Given the description of an element on the screen output the (x, y) to click on. 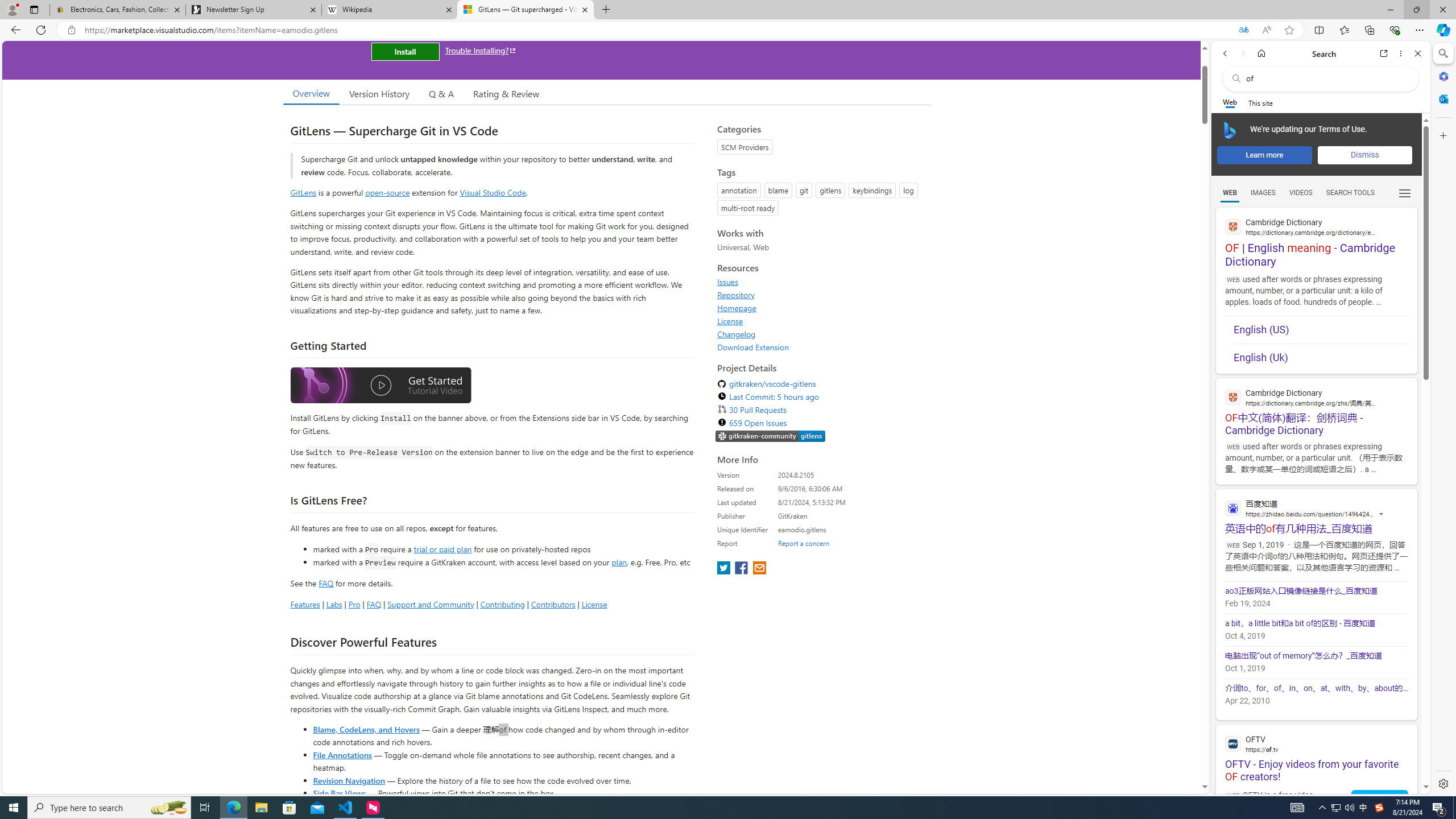
Side Bar Views (339, 792)
English (Uk) (1320, 353)
Download Extension (753, 346)
https://slack.gitkraken.com// (769, 436)
open-source (387, 192)
Repository (735, 294)
Features (304, 603)
Issues (727, 281)
